Given the description of an element on the screen output the (x, y) to click on. 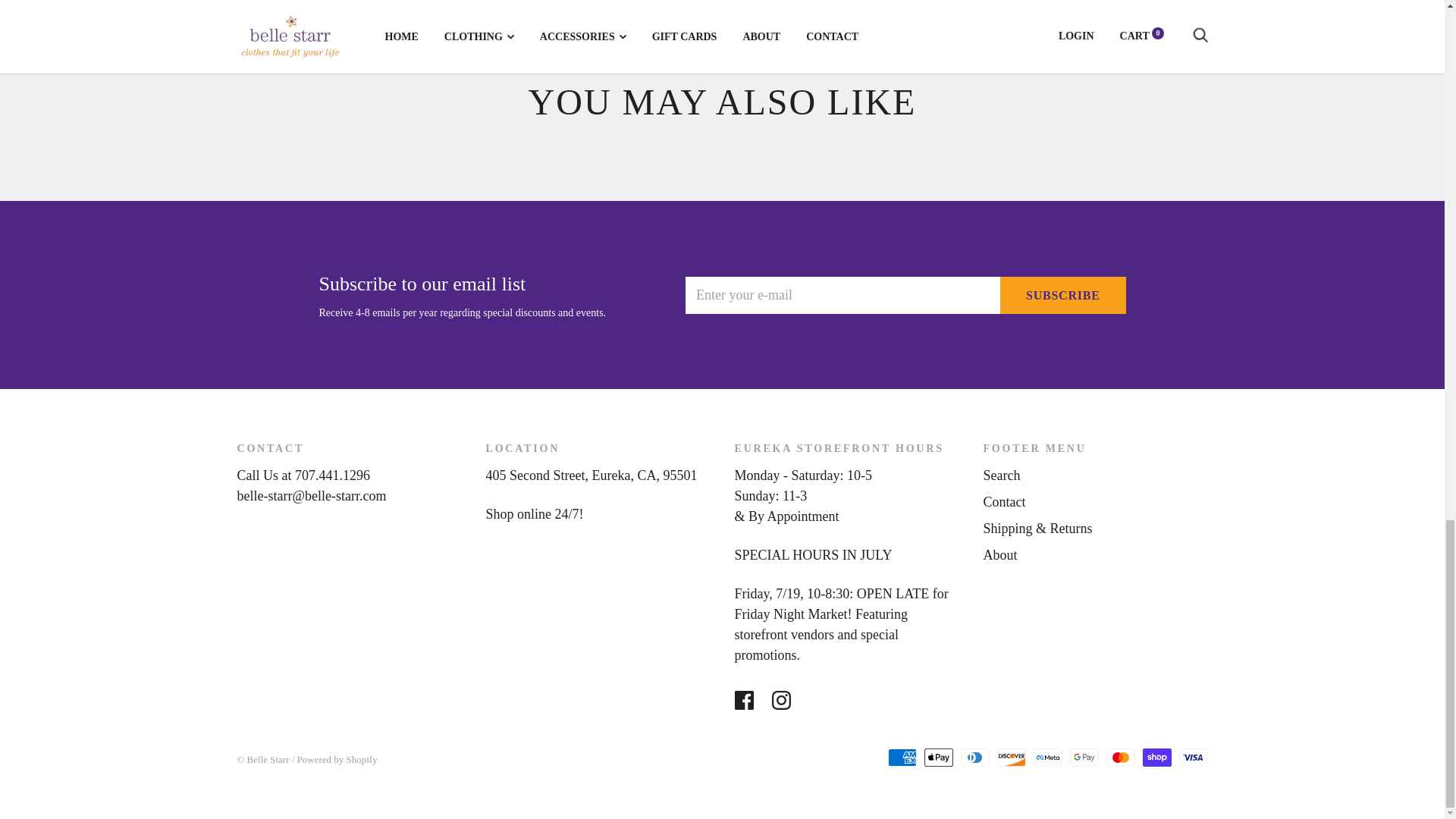
Instagram (780, 700)
Facebook (742, 700)
Apple Pay (937, 757)
Discover (1010, 757)
Google Pay (1082, 757)
Mastercard (1119, 757)
Subscribe (1062, 294)
Meta Pay (1046, 757)
American Express (900, 757)
Diners Club (973, 757)
Shop Pay (1155, 757)
